Given the description of an element on the screen output the (x, y) to click on. 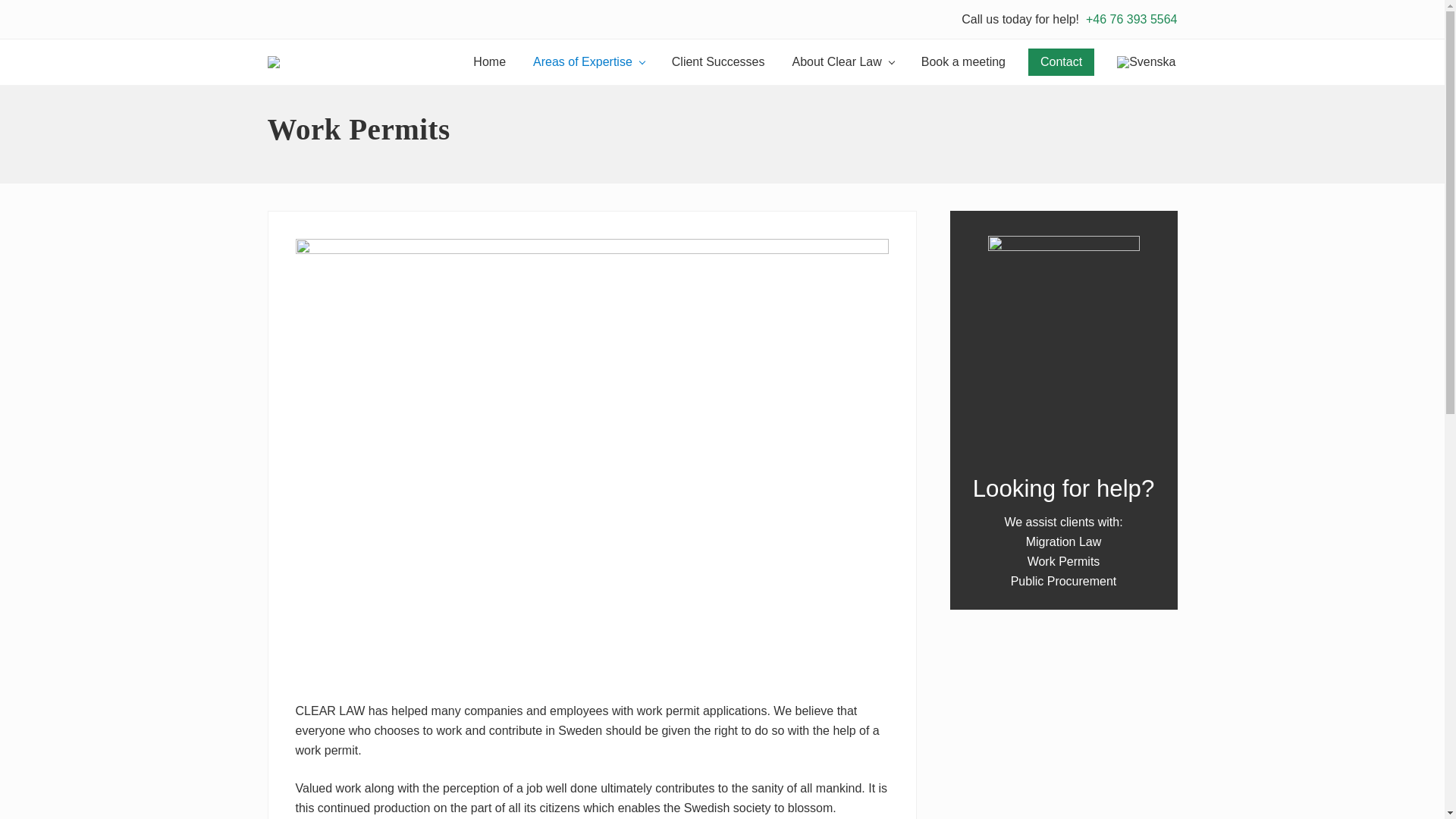
Home (489, 62)
Areas of Expertise (588, 62)
About Clear Law (841, 62)
Client Successes (718, 62)
Book a meeting (962, 62)
Contact (1060, 62)
Migration Law (1064, 541)
Work Permits (1063, 561)
Public Procurement (1063, 581)
